Given the description of an element on the screen output the (x, y) to click on. 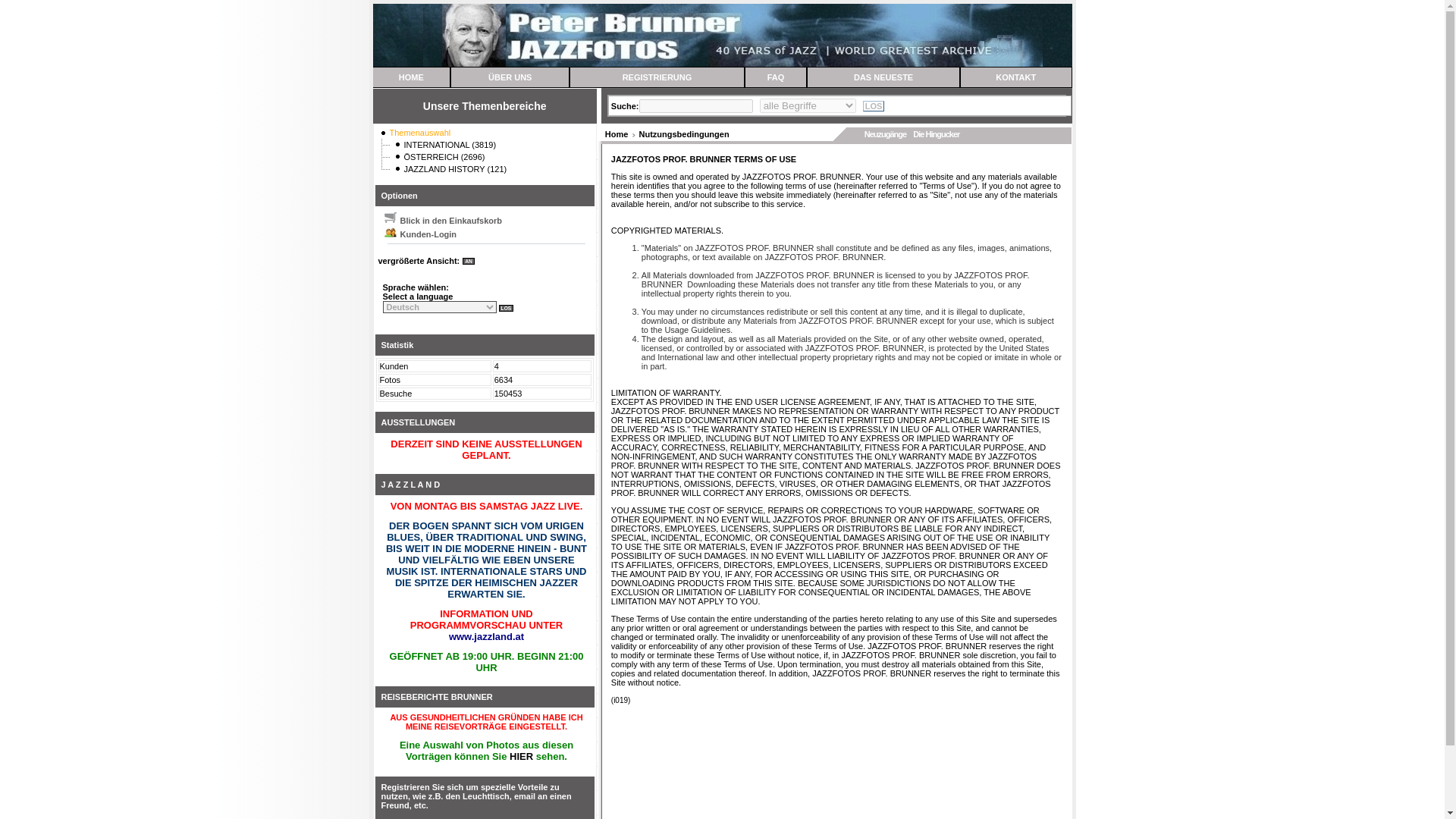
AN (468, 260)
LOS (506, 308)
zur Galerie 'Reisefotos' (520, 756)
HIER (520, 756)
Die Hingucker (935, 133)
AN (468, 260)
Home (616, 133)
LOS (874, 105)
LOS (874, 105)
www.jazzland.at (486, 636)
Blick in den Einkaufskorb (389, 217)
Kunden-Login (389, 231)
DAS NEUESTE (882, 76)
Themenauswahl (420, 132)
REGISTRIERUNG (658, 76)
